Given the description of an element on the screen output the (x, y) to click on. 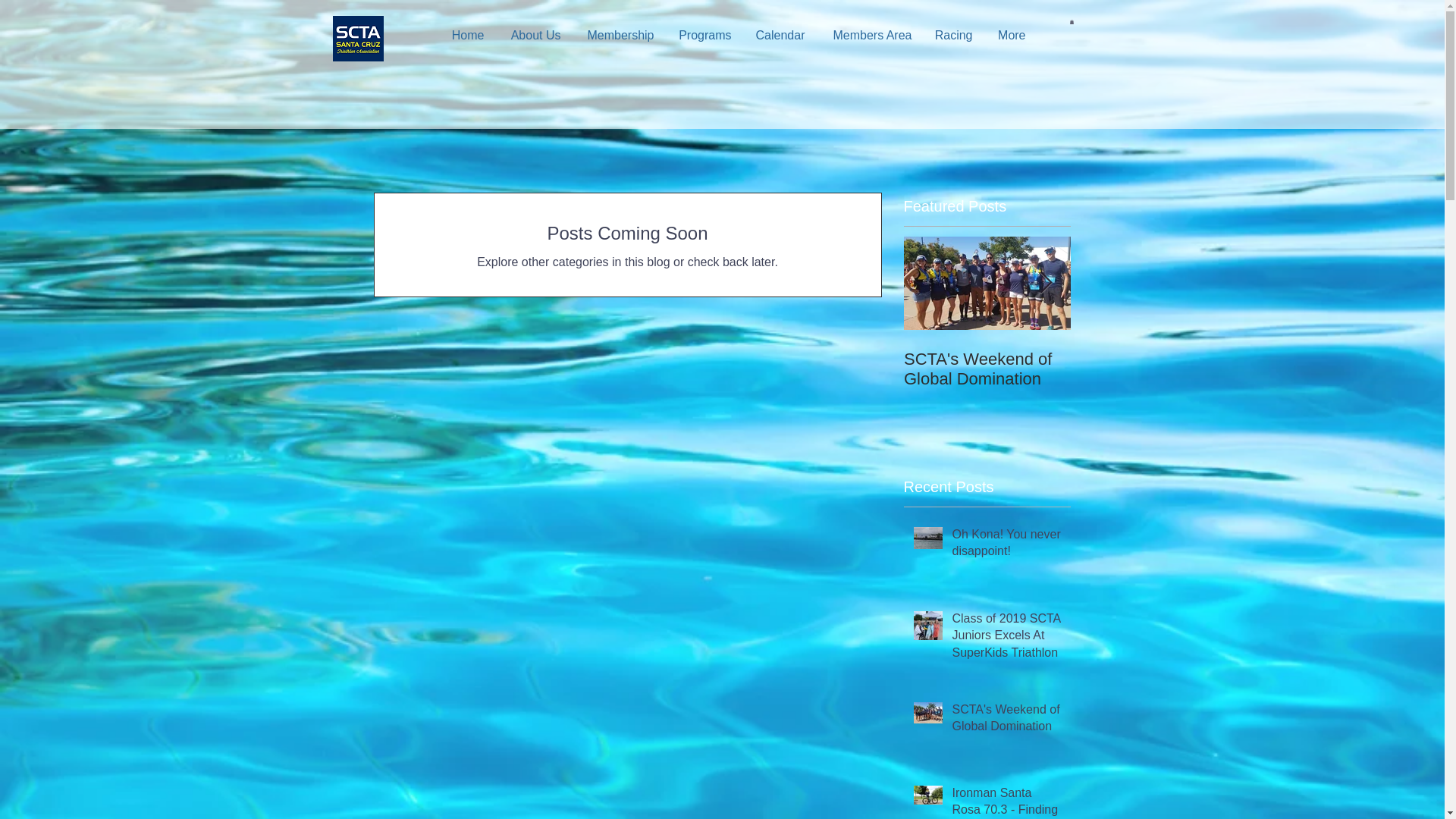
Class of 2019 SCTA Juniors Excels At SuperKids Triathlon (1006, 638)
Calendar (779, 35)
Membership (618, 35)
Members Area (869, 35)
SCTA's Weekend of Global Domination (1006, 721)
SCTA's Weekend of Global Domination (987, 369)
Home (466, 35)
Oh Kona! You never disappoint! (1006, 546)
I Found My Community through SCTA (1153, 378)
